Given the description of an element on the screen output the (x, y) to click on. 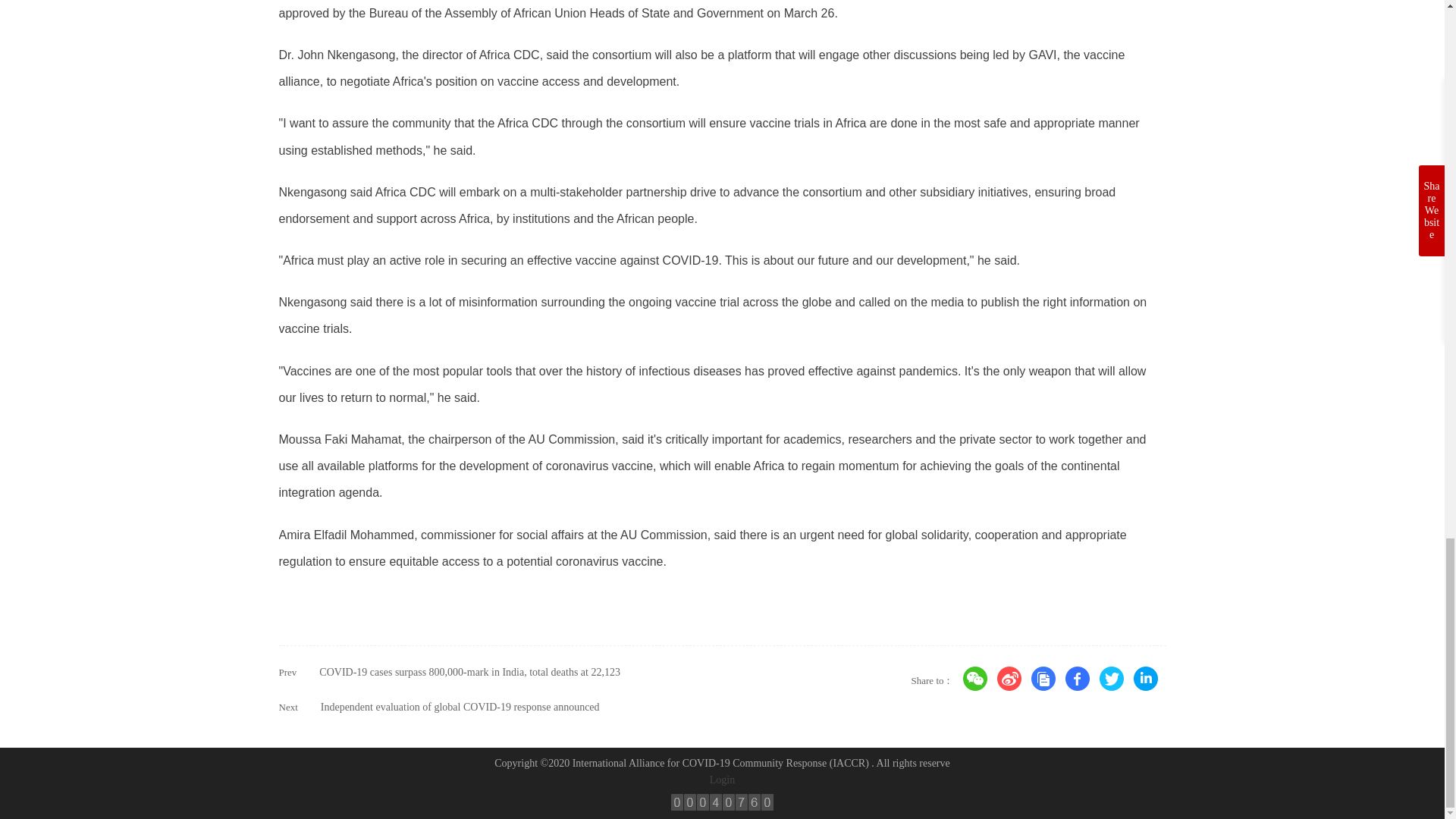
Share to Sina Weibo (1008, 678)
Share to WeChat (975, 678)
Share to Twitter (1111, 678)
URL Copy (1043, 678)
Share to LinkedIn (1144, 678)
Independent evaluation of global COVID-19 response announced (459, 706)
Share to Facebook (1076, 678)
Login (722, 779)
